Given the description of an element on the screen output the (x, y) to click on. 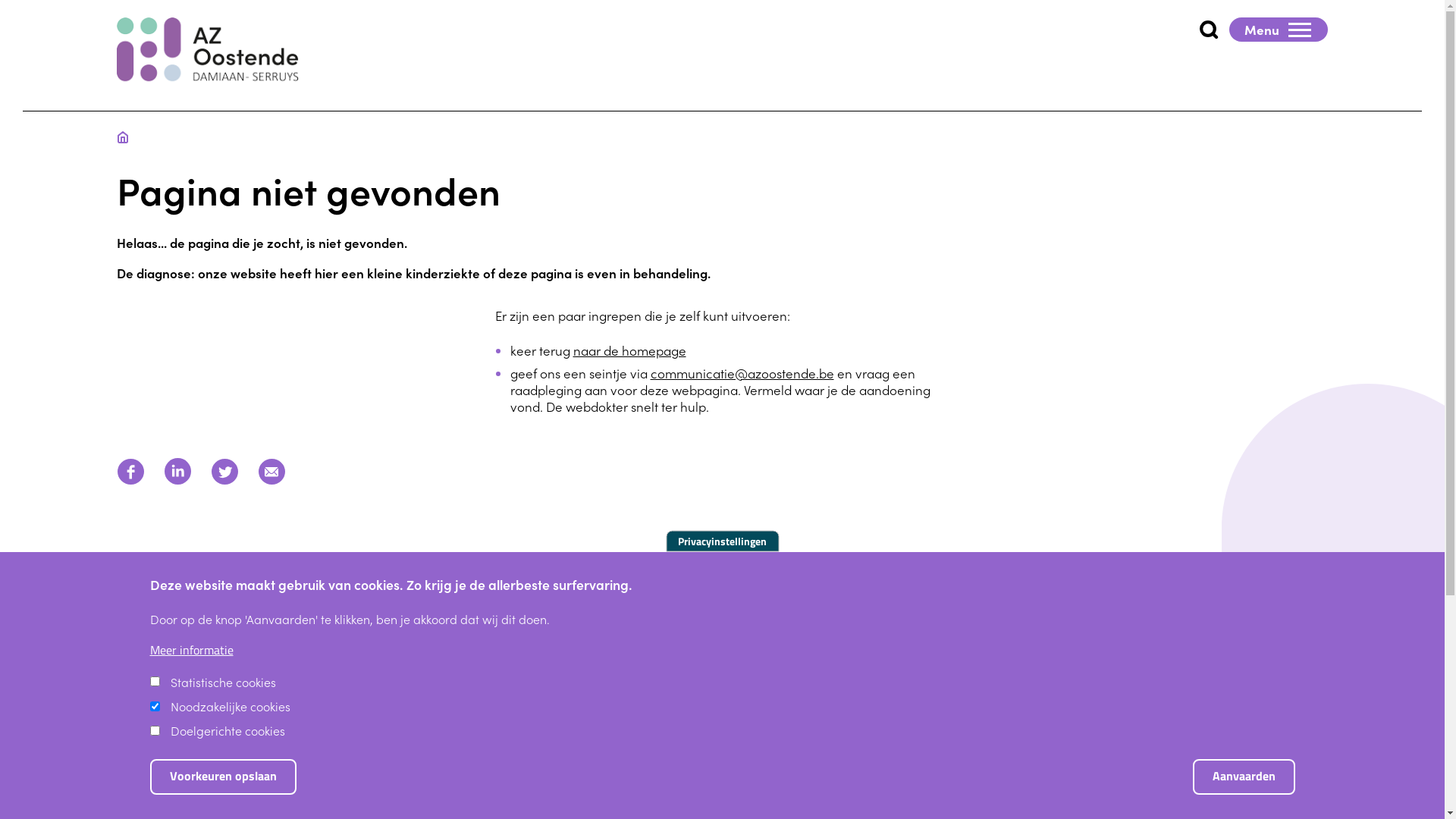
Naar de inhoud Element type: text (0, 0)
Zoeken Element type: text (1180, 30)
059 55 51 11 Element type: text (1298, 724)
Privacy Element type: text (1055, 751)
Toestemming intrekken Element type: text (1314, 766)
Linkedin Element type: hover (177, 484)
Aanvaarden Element type: text (1243, 776)
Cookieverklaring Element type: text (1127, 751)
Disclaimer Element type: text (1207, 751)
Toegankelijkheid Element type: text (1287, 751)
naar de homepage Element type: text (629, 350)
Privacyinstellingen Element type: text (721, 541)
Meer informatie Element type: text (191, 650)
Print Element type: hover (318, 484)
Voorkeuren opslaan Element type: text (223, 776)
Menu Element type: text (1278, 29)
Paddle CMS Platform Element type: hover (1289, 796)
Ga naar de homepage Element type: hover (207, 50)
Email Element type: hover (271, 484)
059 41 61 11 Element type: text (1300, 697)
Twitter Element type: hover (224, 484)
059 41 40 40 Element type: text (1107, 724)
communicatie@azoostende.be Element type: text (742, 373)
